Given the description of an element on the screen output the (x, y) to click on. 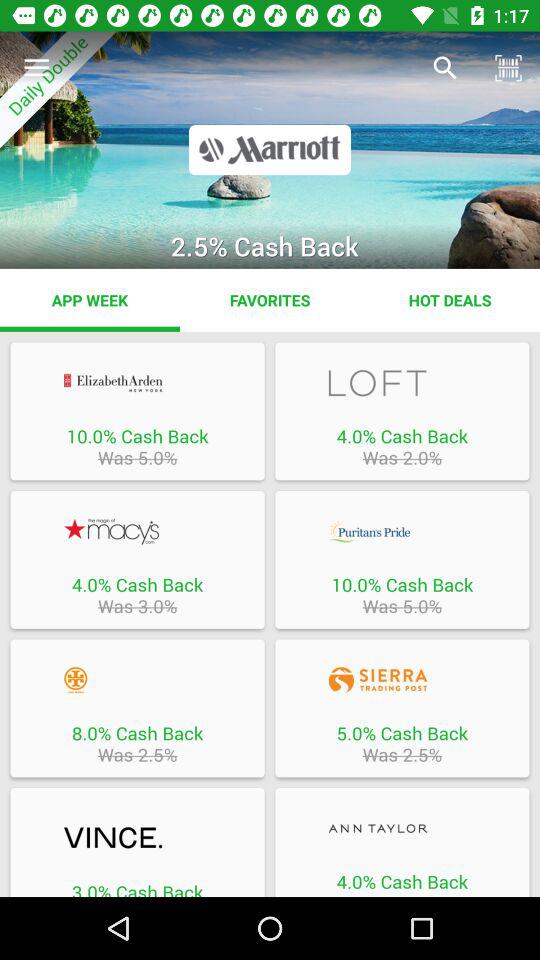
swipe to hot deals (450, 299)
